Given the description of an element on the screen output the (x, y) to click on. 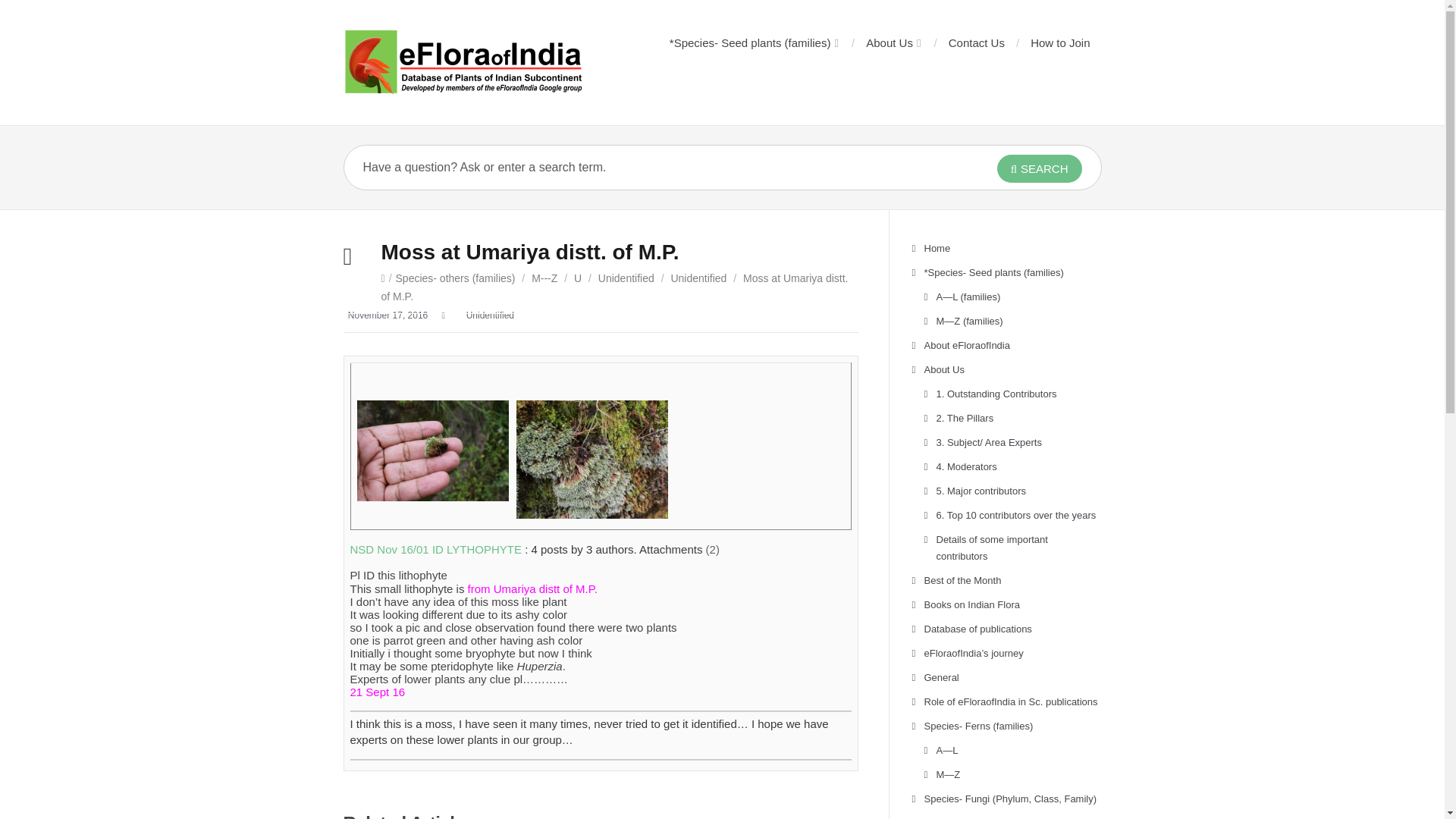
About Us (892, 42)
How to Join (1059, 42)
M---Z (544, 277)
Unidentified (625, 277)
SEARCH (1039, 168)
Unidentified (489, 315)
eFlora of India (463, 62)
Contact Us (976, 42)
Have a question? Ask or enter a search term. (646, 167)
Unidentified (697, 277)
